Given the description of an element on the screen output the (x, y) to click on. 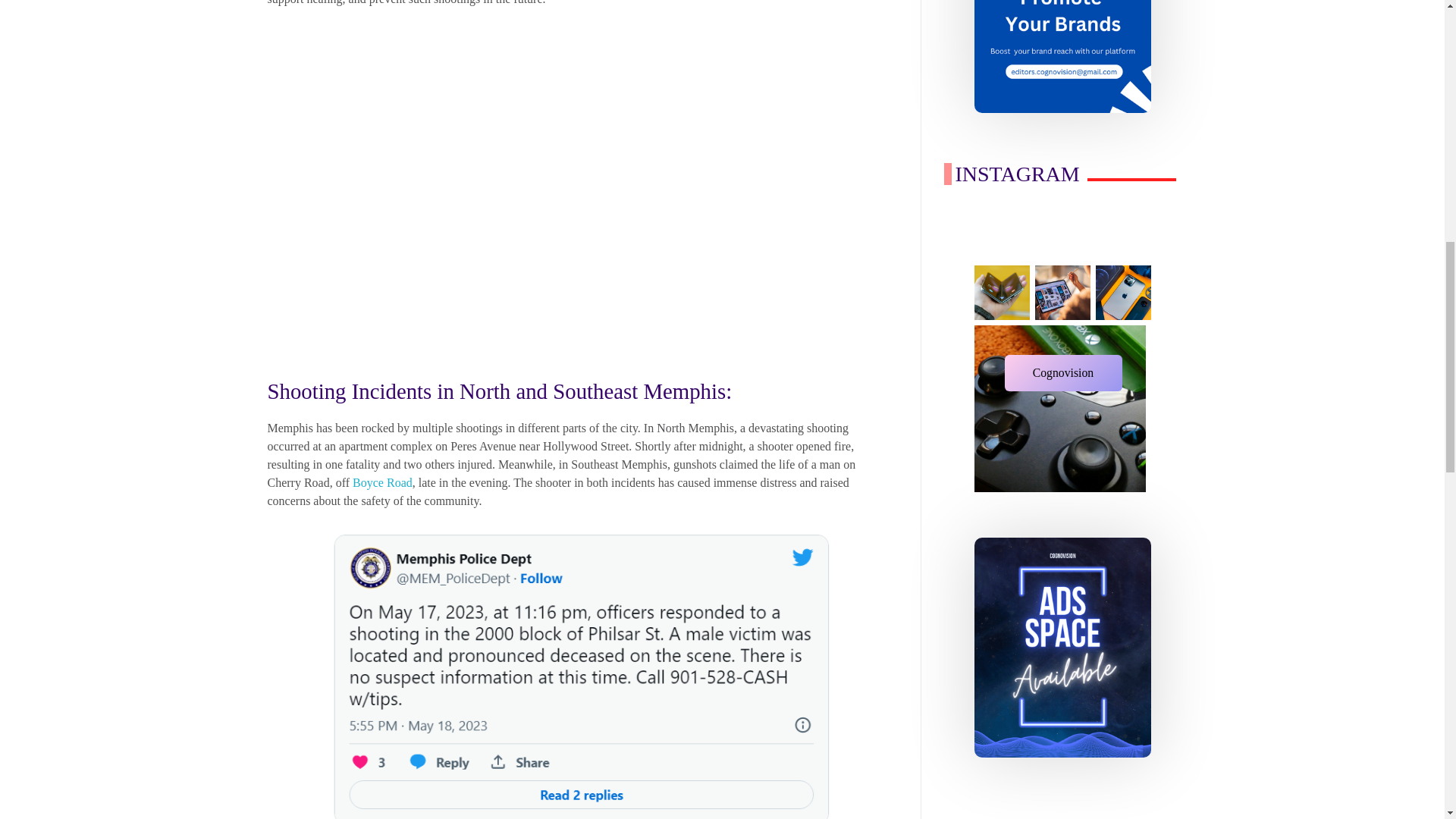
Boyce Road (382, 481)
Cognovision (1062, 373)
